Given the description of an element on the screen output the (x, y) to click on. 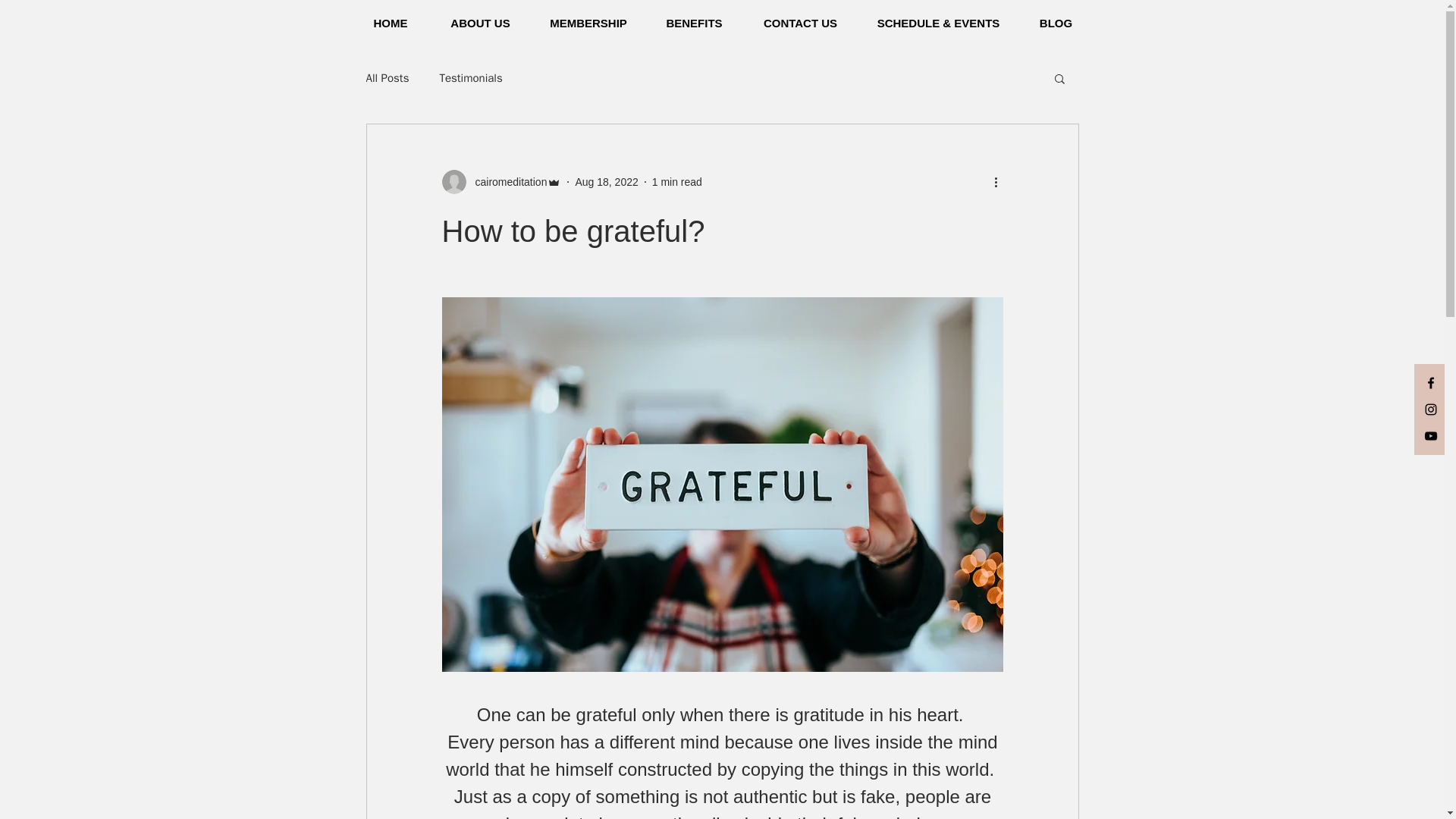
cairomeditation (500, 181)
HOME (389, 23)
MEMBERSHIP (588, 23)
Testimonials (470, 78)
Aug 18, 2022 (606, 182)
cairomeditation (506, 182)
1 min read (676, 182)
CONTACT US (800, 23)
All Posts (387, 78)
BLOG (1055, 23)
